Given the description of an element on the screen output the (x, y) to click on. 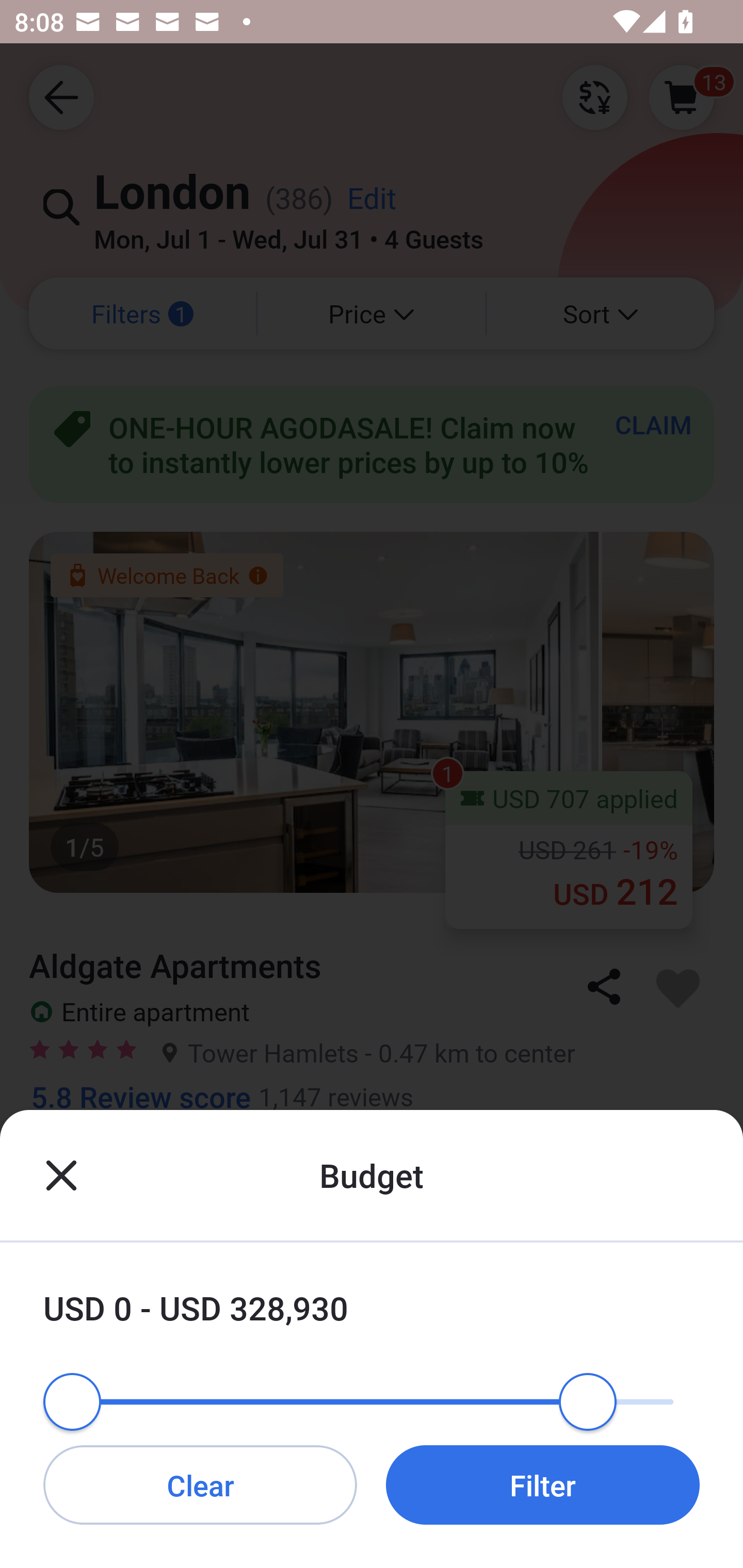
VIP Deal (371, 1430)
Clear (200, 1484)
Filter (542, 1484)
